Given the description of an element on the screen output the (x, y) to click on. 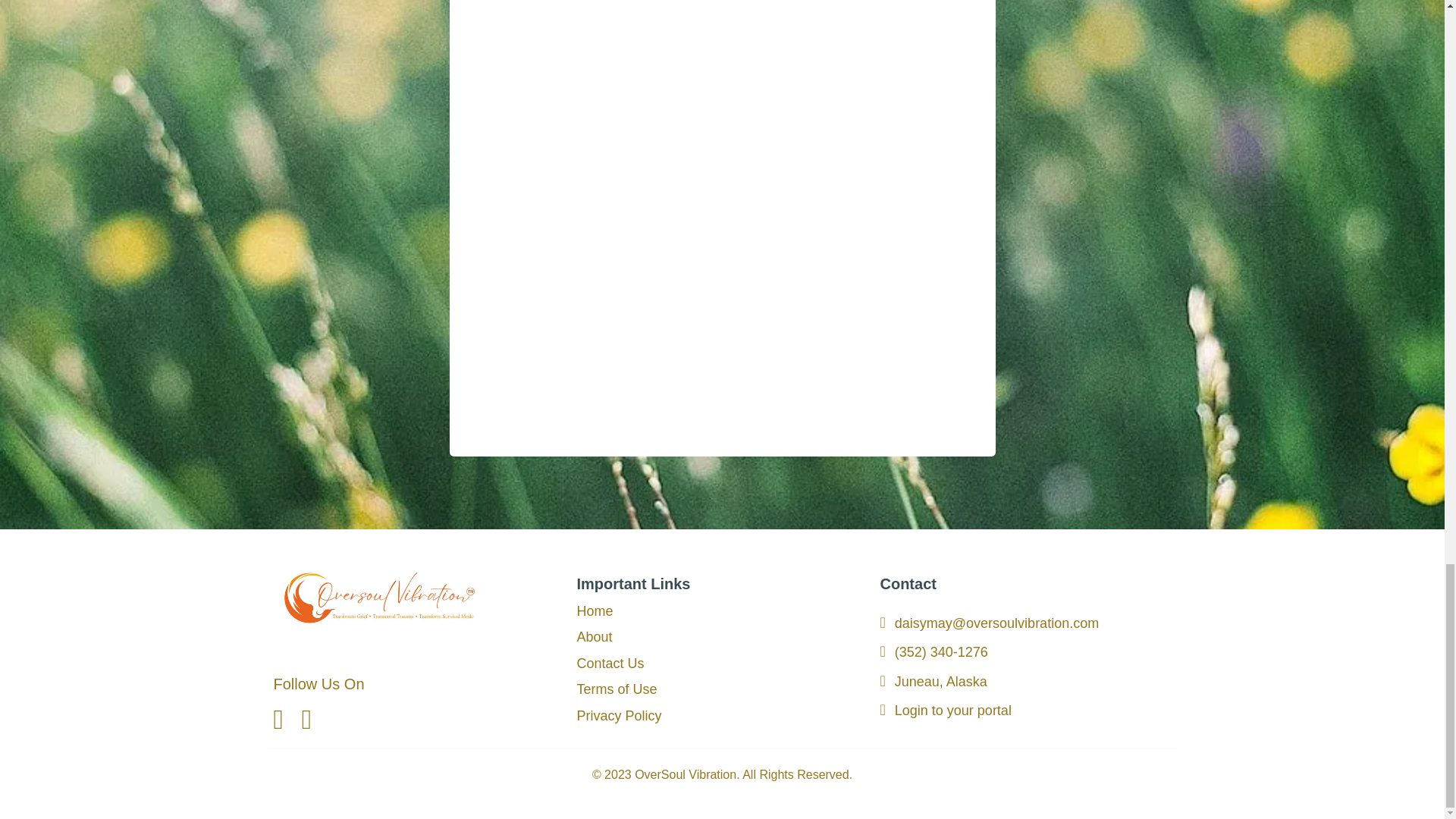
About (593, 637)
Home (594, 610)
Contact Us (609, 663)
Terms of Use (616, 689)
Privacy Policy (618, 715)
Login to your portal (953, 710)
